Given the description of an element on the screen output the (x, y) to click on. 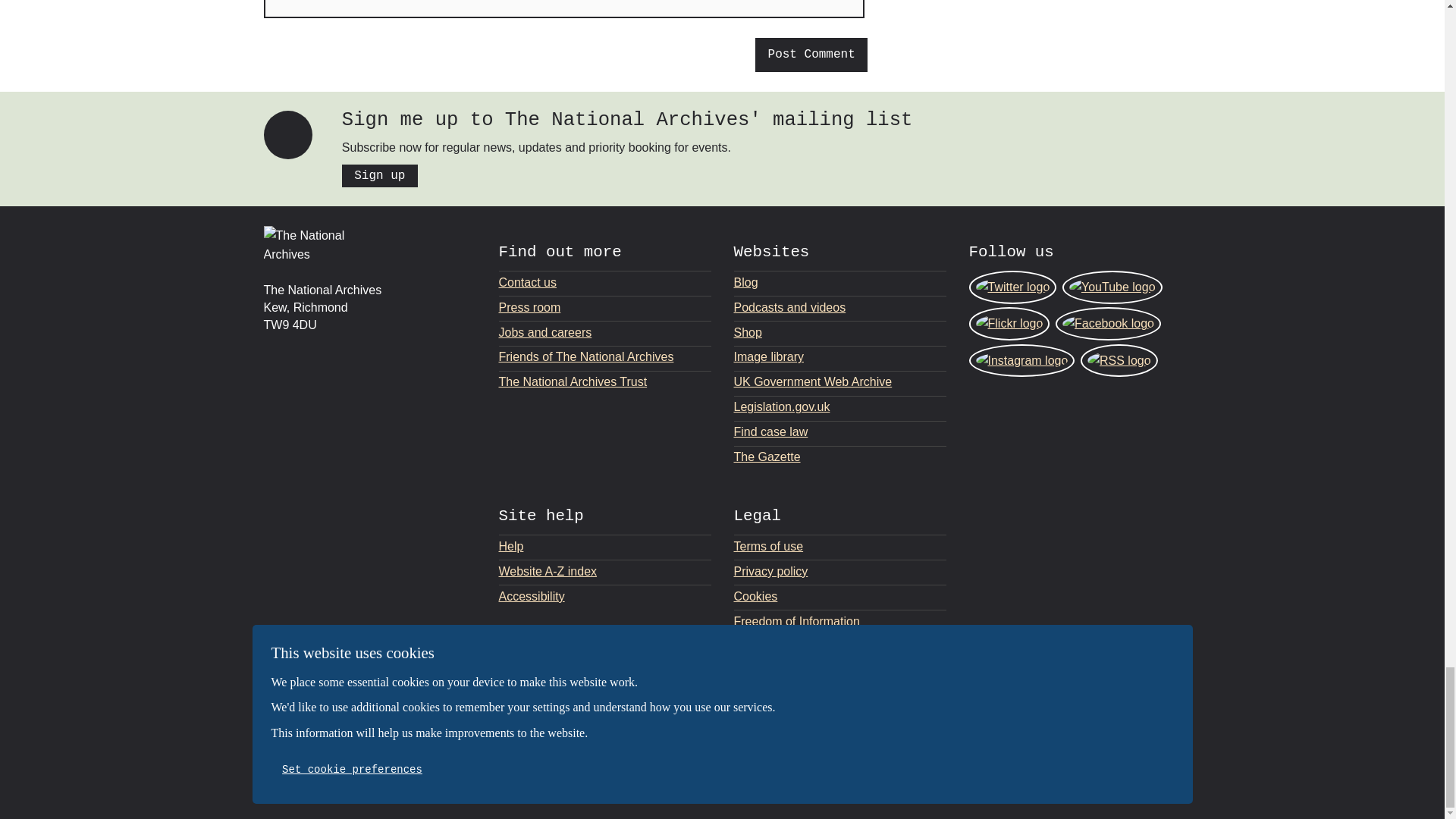
Opens a new window (839, 406)
Post Comment (811, 54)
Follow us on Flickr - Opens a new window (1009, 323)
Follow us on YouTube - Opens a new window (1111, 287)
Follow us via RSS (1118, 360)
Opens a new window (839, 456)
Follow us on Instagram - Opens a new window (1022, 360)
External website - opens in a new window (1138, 749)
Follow us on Facebook - Opens a new window (1107, 323)
Follow us on Twitter - Opens a new window (1013, 287)
